Given the description of an element on the screen output the (x, y) to click on. 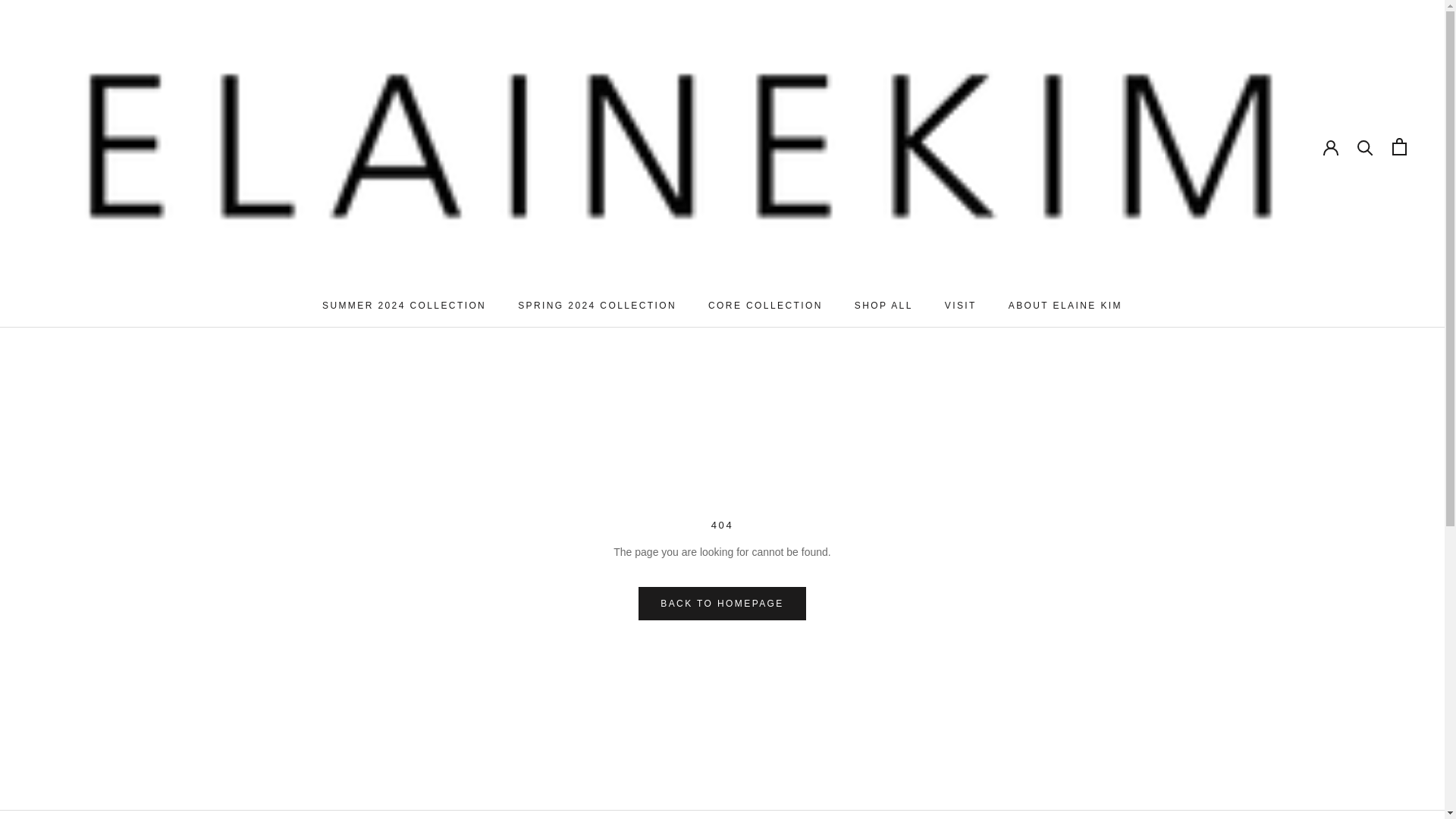
SHOP ALL (883, 305)
SPRING 2024 COLLECTION (597, 305)
SUMMER 2024 COLLECTION (403, 305)
CORE COLLECTION (764, 305)
